Given the description of an element on the screen output the (x, y) to click on. 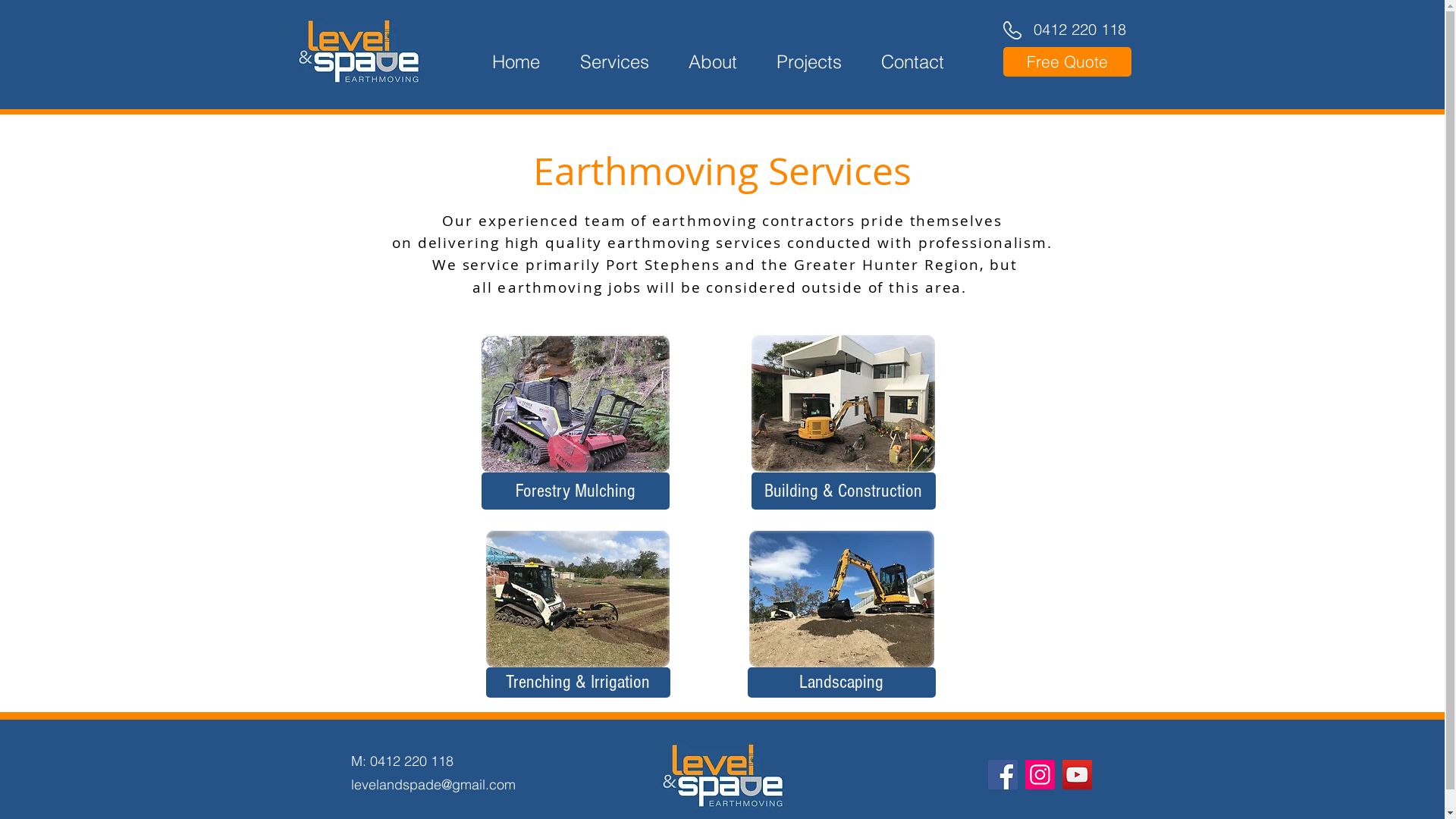
Landscaping Element type: text (841, 682)
Bannisters Soldiers Point Turf Preparation Element type: hover (841, 598)
Irrigation trenching Maitland Element type: hover (576, 598)
Soldiers Point Driveway Preparation Element type: hover (842, 402)
Projects Element type: text (807, 61)
levelandspade@gmail.com Element type: text (432, 784)
Free Quote Element type: text (1066, 61)
Contact Element type: text (911, 61)
Home Element type: text (516, 61)
Forestry Mulching Element type: text (574, 490)
Building & Construction Element type: text (842, 490)
Services Element type: text (614, 61)
Trenching & Irrigation Element type: text (577, 682)
About Element type: text (711, 61)
Forestry Mulching Wollemi National Park Element type: hover (574, 403)
